Given the description of an element on the screen output the (x, y) to click on. 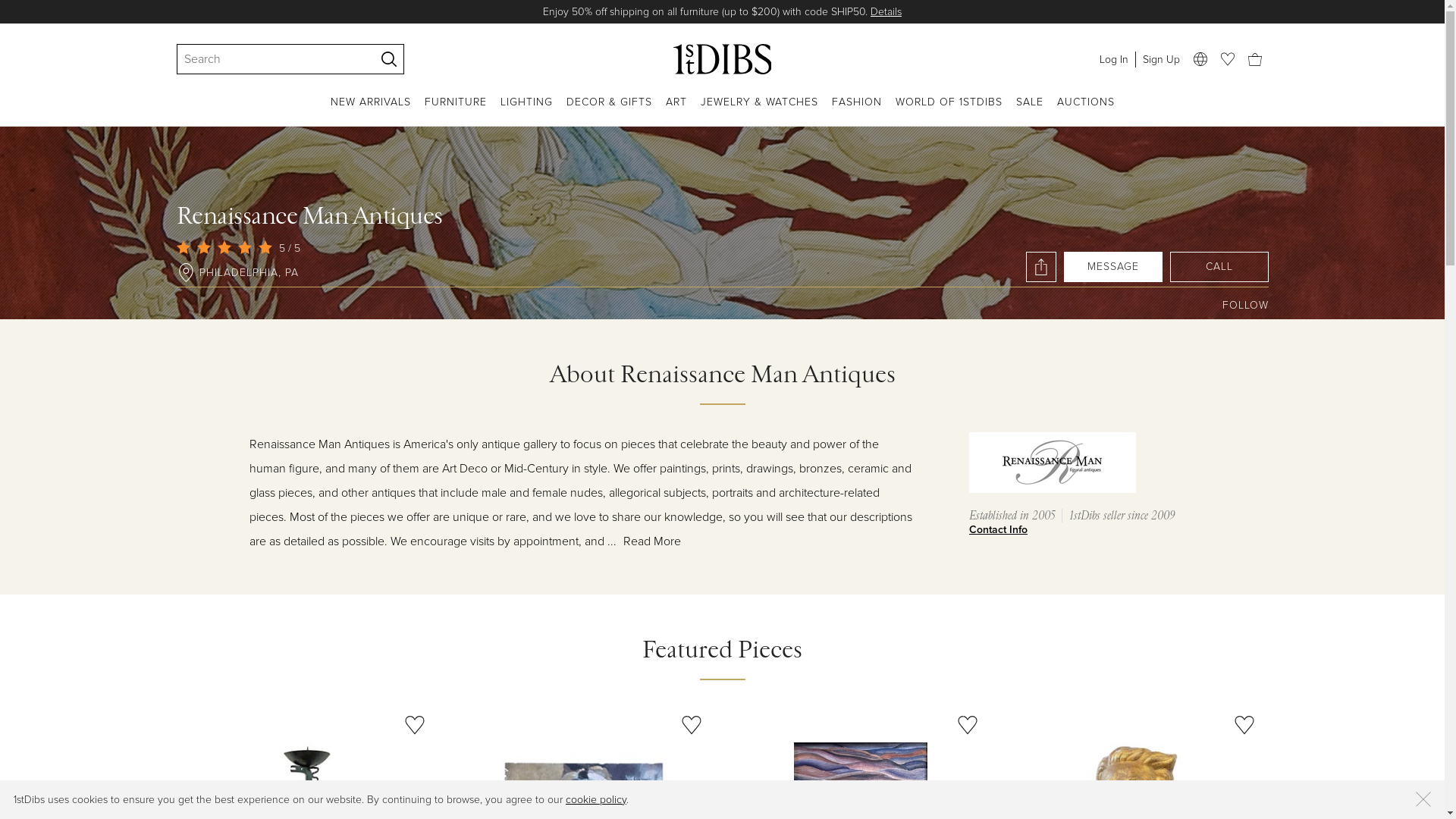
JEWELRY & WATCHES Element type: text (759, 109)
Apply Now Element type: text (948, 11)
Contact Info Element type: text (1082, 529)
Log In Element type: text (1113, 59)
AUCTIONS Element type: text (1085, 109)
ART Element type: text (676, 109)
Sign Up Element type: text (1160, 59)
CALL Element type: text (1218, 266)
NEW ARRIVALS Element type: text (370, 109)
WORLD OF 1STDIBS Element type: text (947, 109)
SALE Element type: text (1029, 109)
SKIP TO MAIN CONTENT Element type: text (6, 6)
Search Element type: hover (268, 58)
FASHION Element type: text (856, 109)
LIGHTING Element type: text (526, 109)
FURNITURE Element type: text (455, 109)
cookie policy Element type: text (595, 799)
DECOR & GIFTS Element type: text (608, 109)
